Given the description of an element on the screen output the (x, y) to click on. 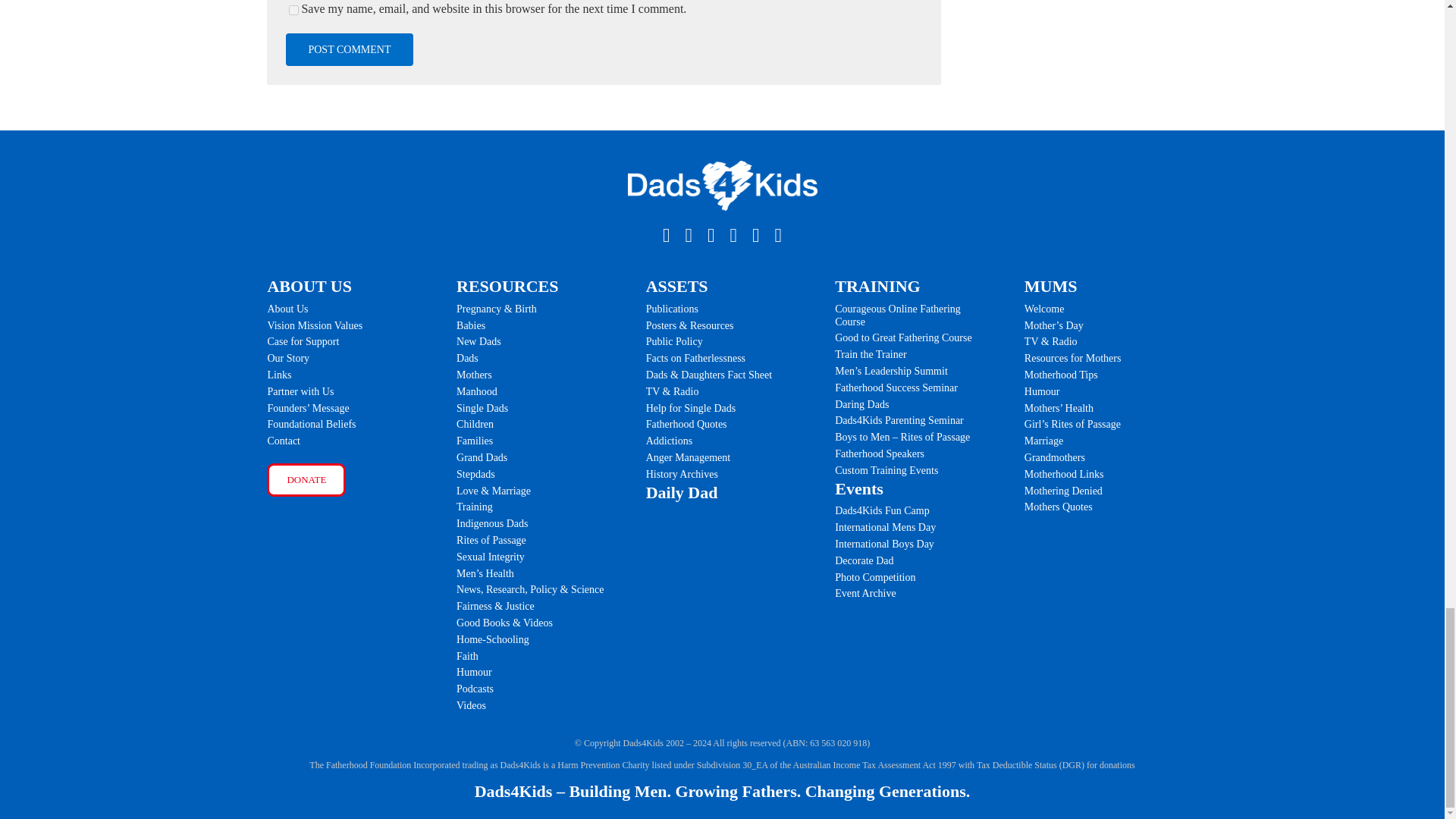
Post Comment (348, 48)
d4k-logo-clear-42x-WHITE (721, 184)
yes (293, 9)
